Given the description of an element on the screen output the (x, y) to click on. 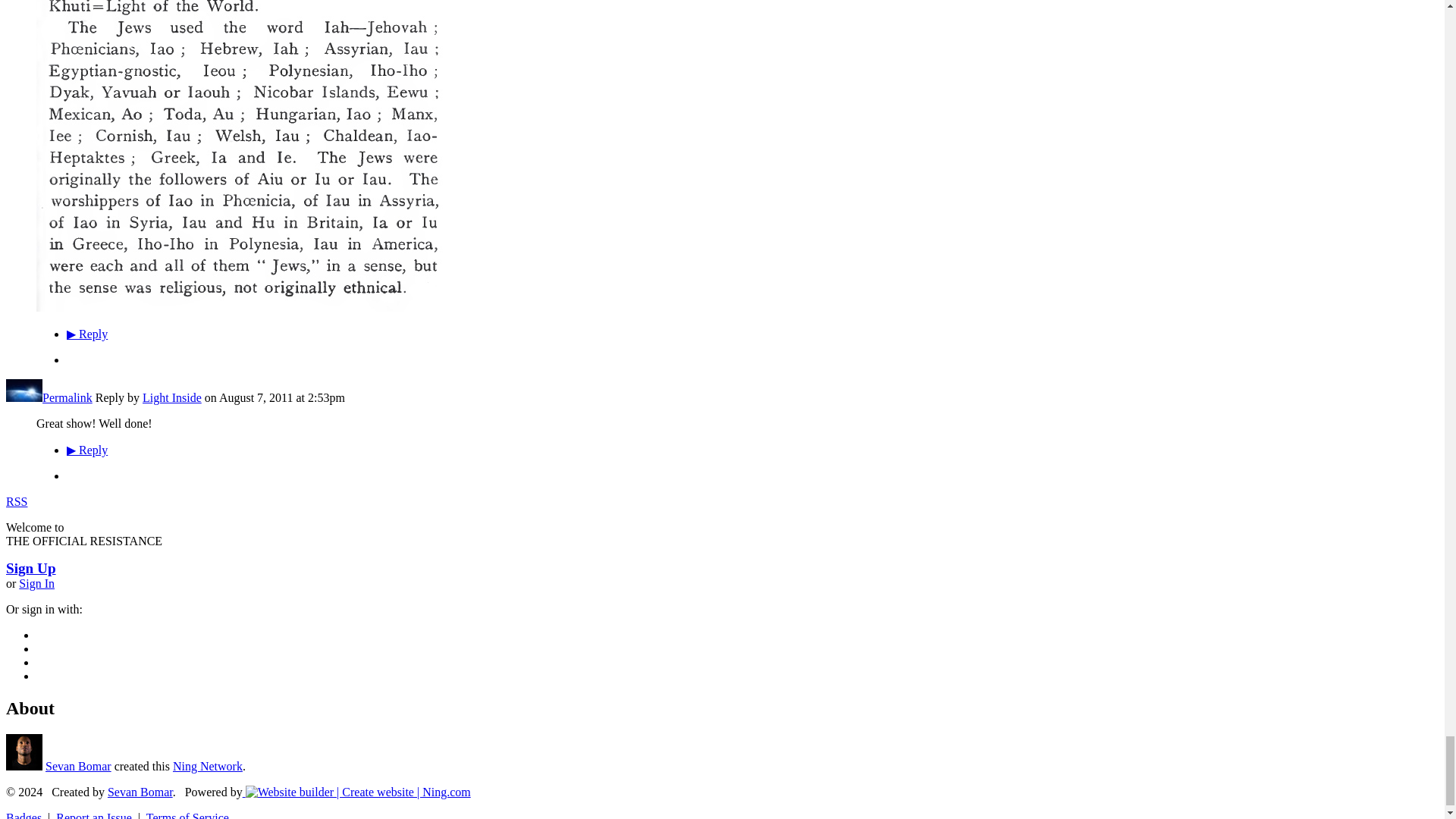
Sevan Bomar (23, 766)
Light Inside (23, 397)
Permalink to this Reply (67, 397)
